Given the description of an element on the screen output the (x, y) to click on. 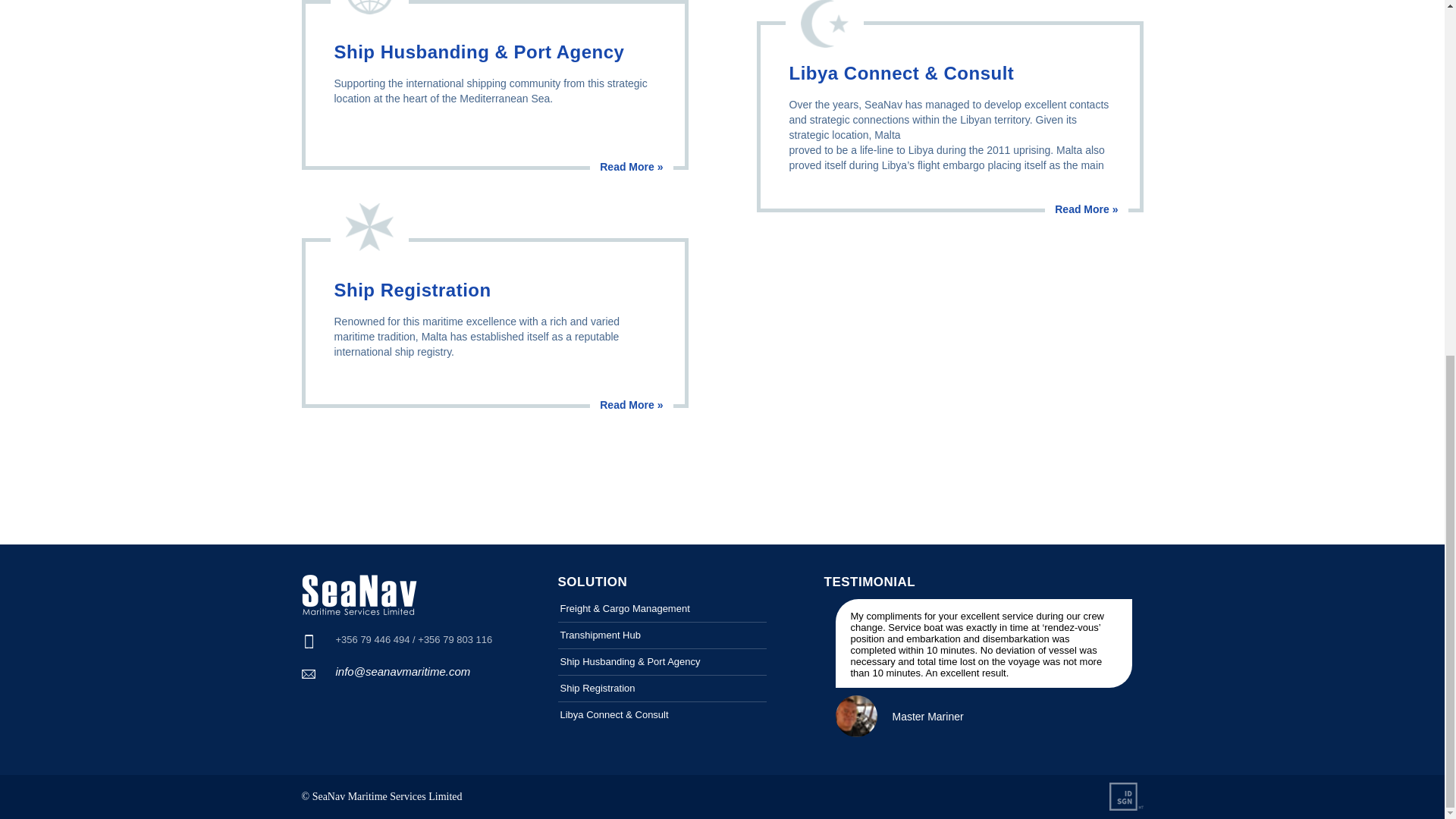
Transhipment Hub (662, 12)
Ship Registration (662, 63)
